Given the description of an element on the screen output the (x, y) to click on. 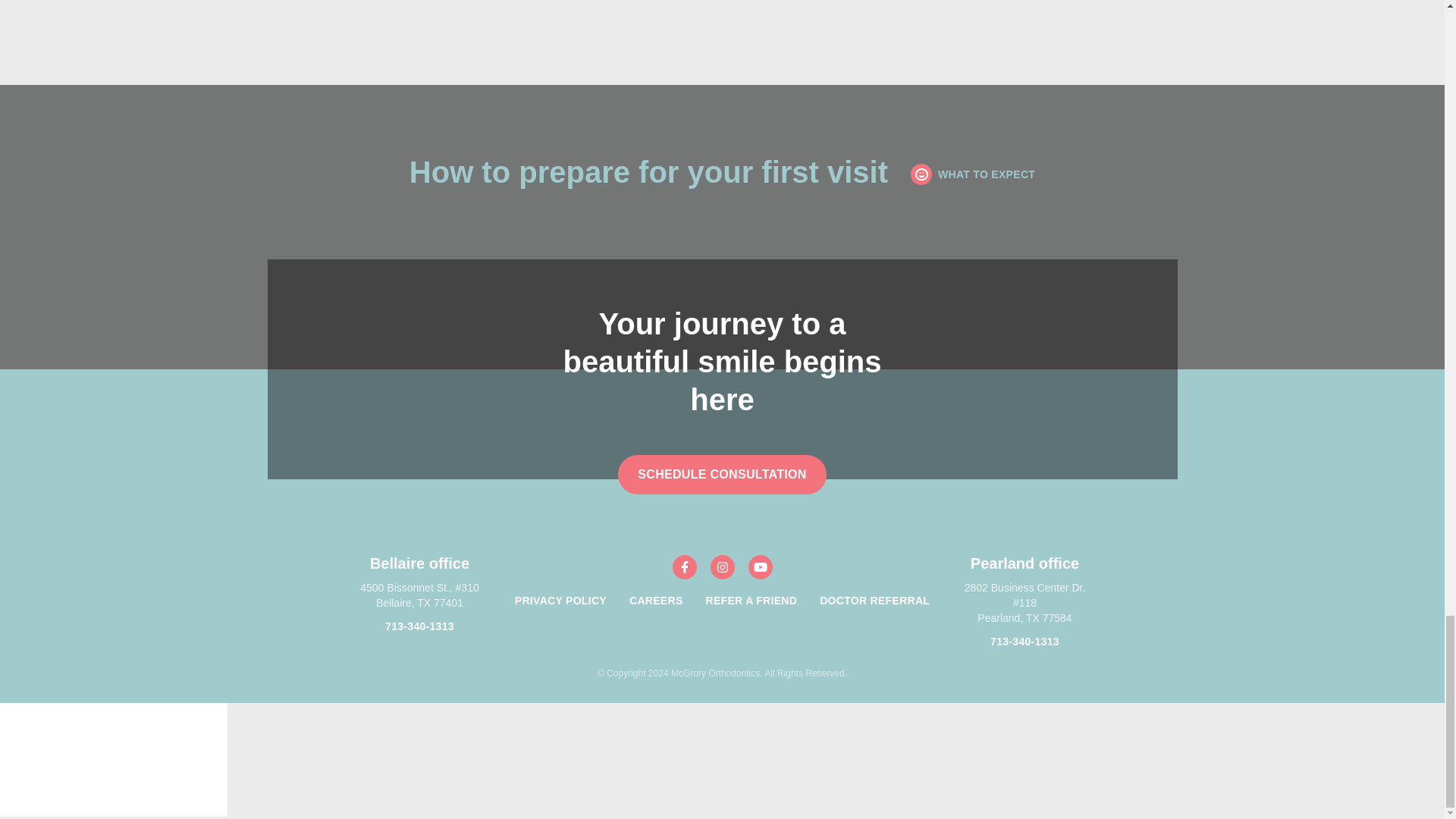
713-340-1313 (419, 625)
WHAT TO EXPECT (973, 174)
SCHEDULE CONSULTATION (722, 474)
